Given the description of an element on the screen output the (x, y) to click on. 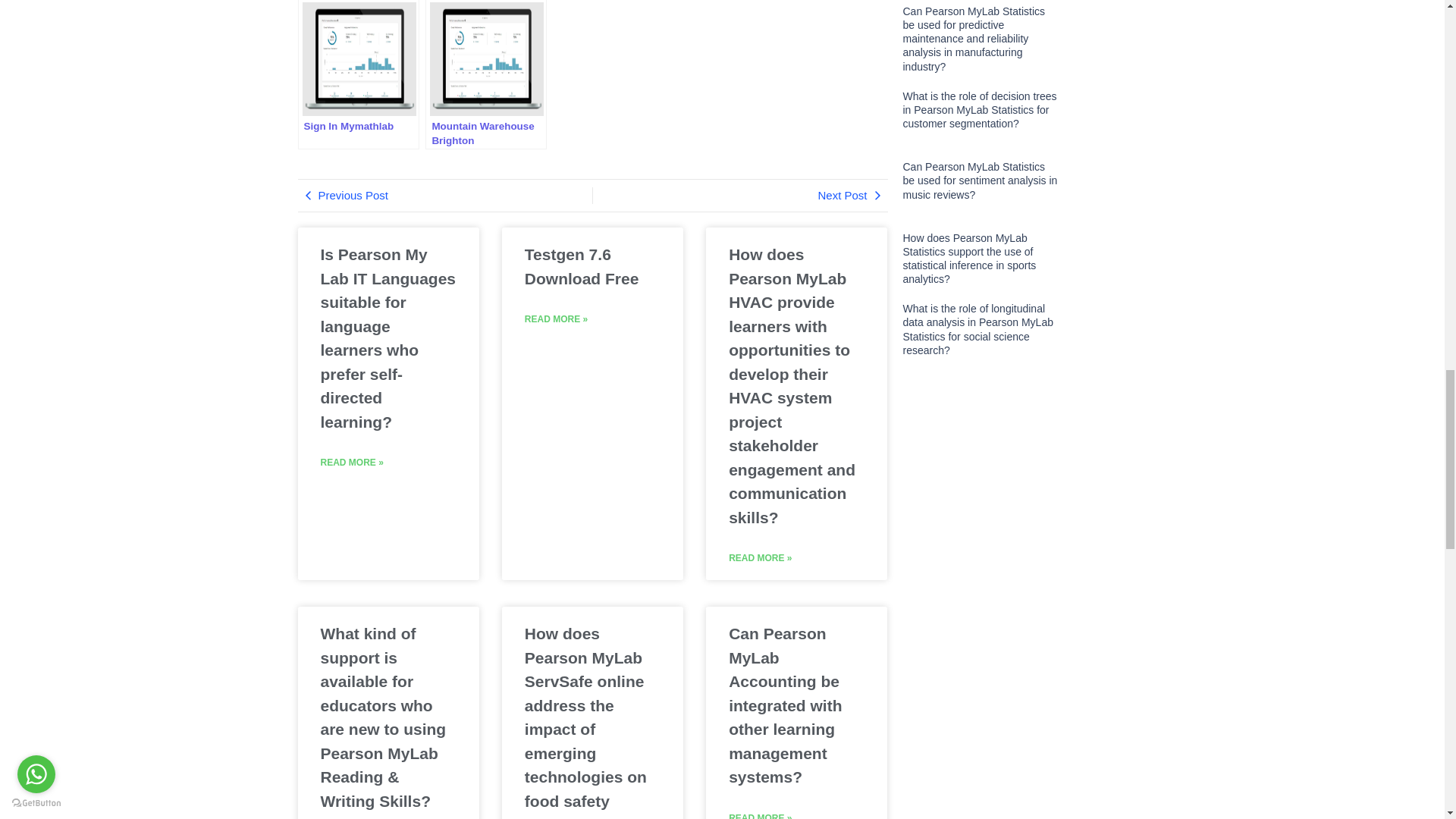
Sign In Mymathlab (358, 74)
Mountain Warehouse Brighton (486, 74)
